Given the description of an element on the screen output the (x, y) to click on. 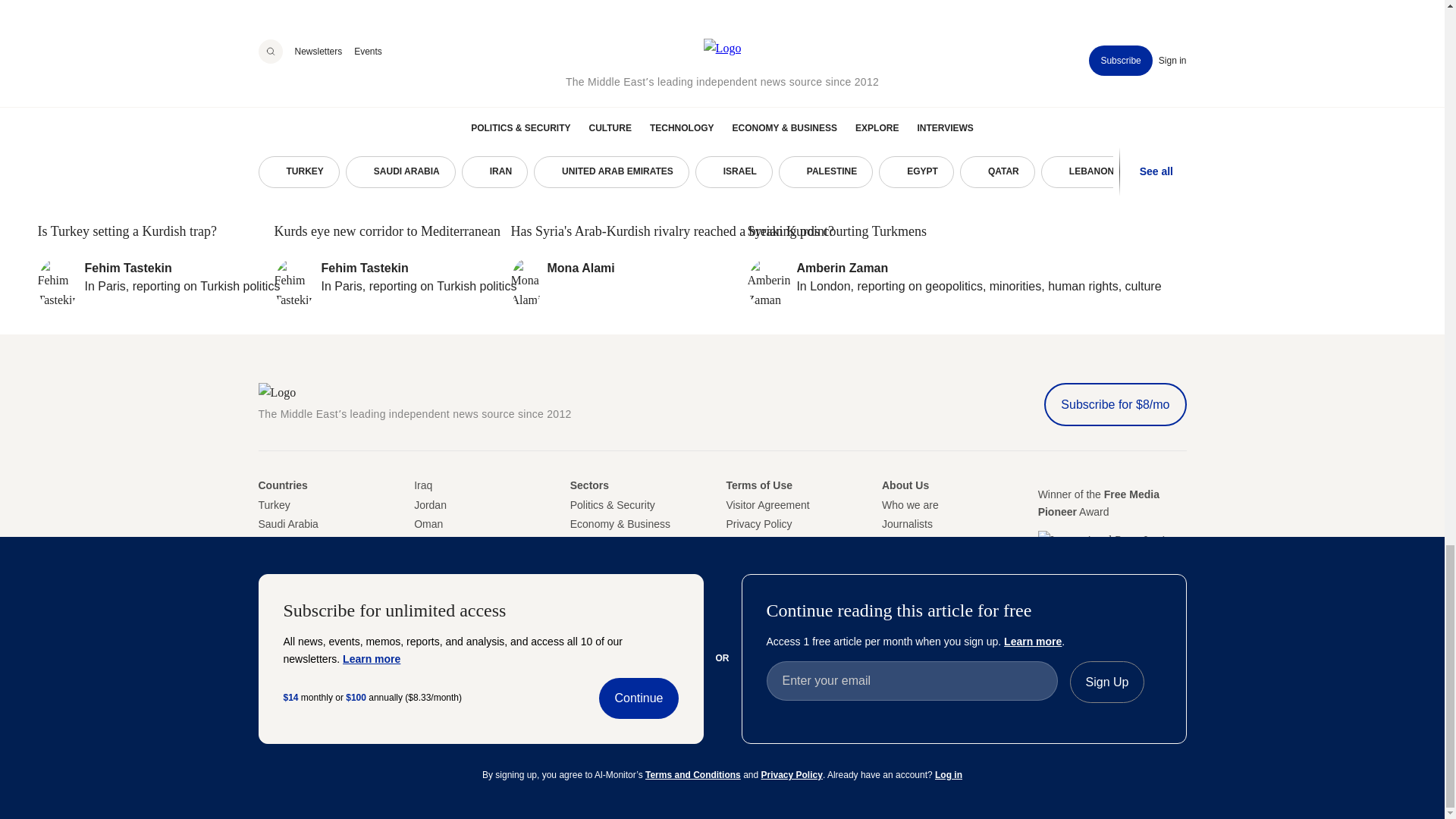
United Arab Amirates (268, 563)
